Given the description of an element on the screen output the (x, y) to click on. 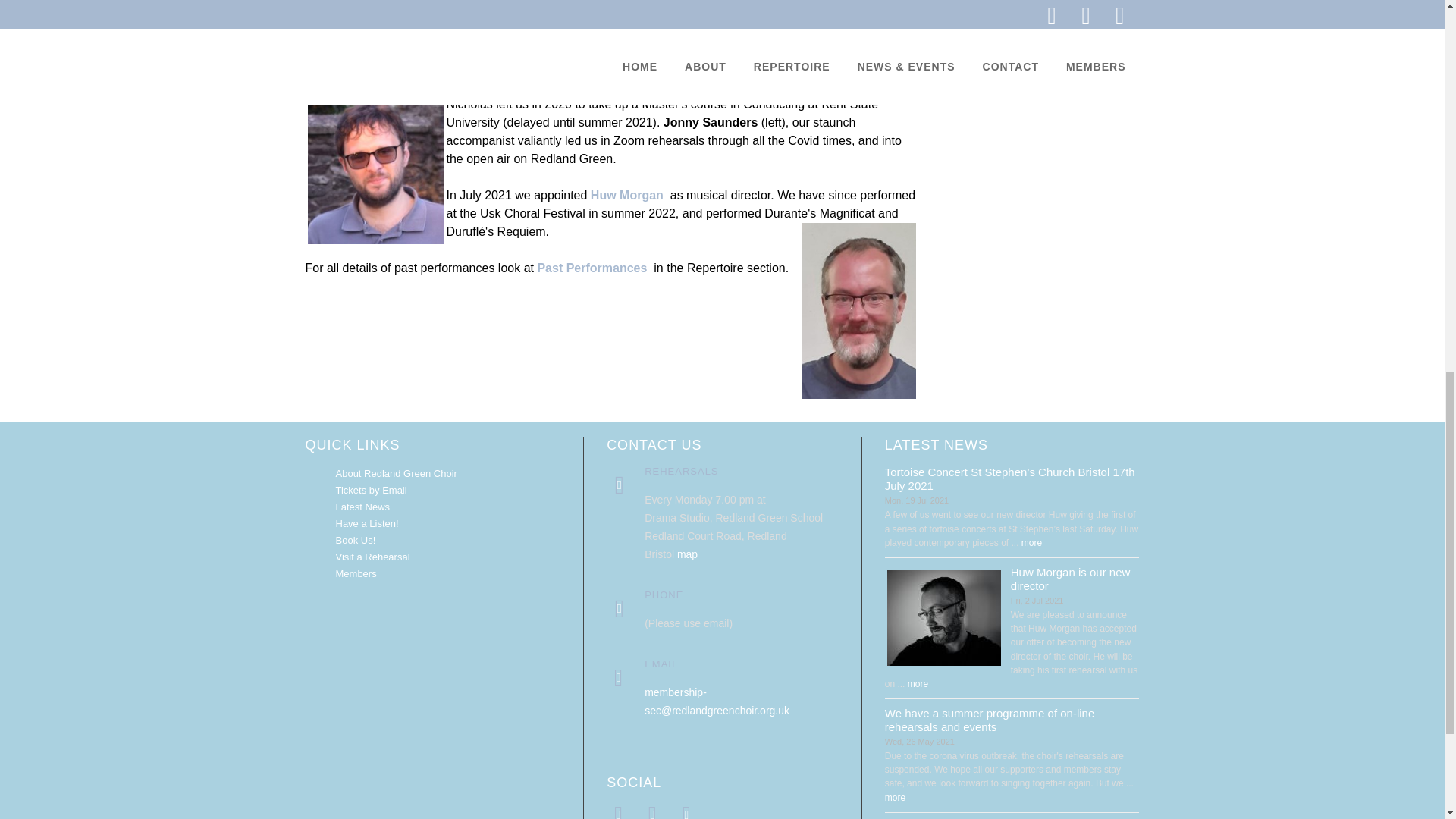
Visit us on Facebook (618, 811)
Follow us on Twitter (651, 811)
RSS Feeds (686, 811)
Huw Morgan is our new director (944, 617)
